Given the description of an element on the screen output the (x, y) to click on. 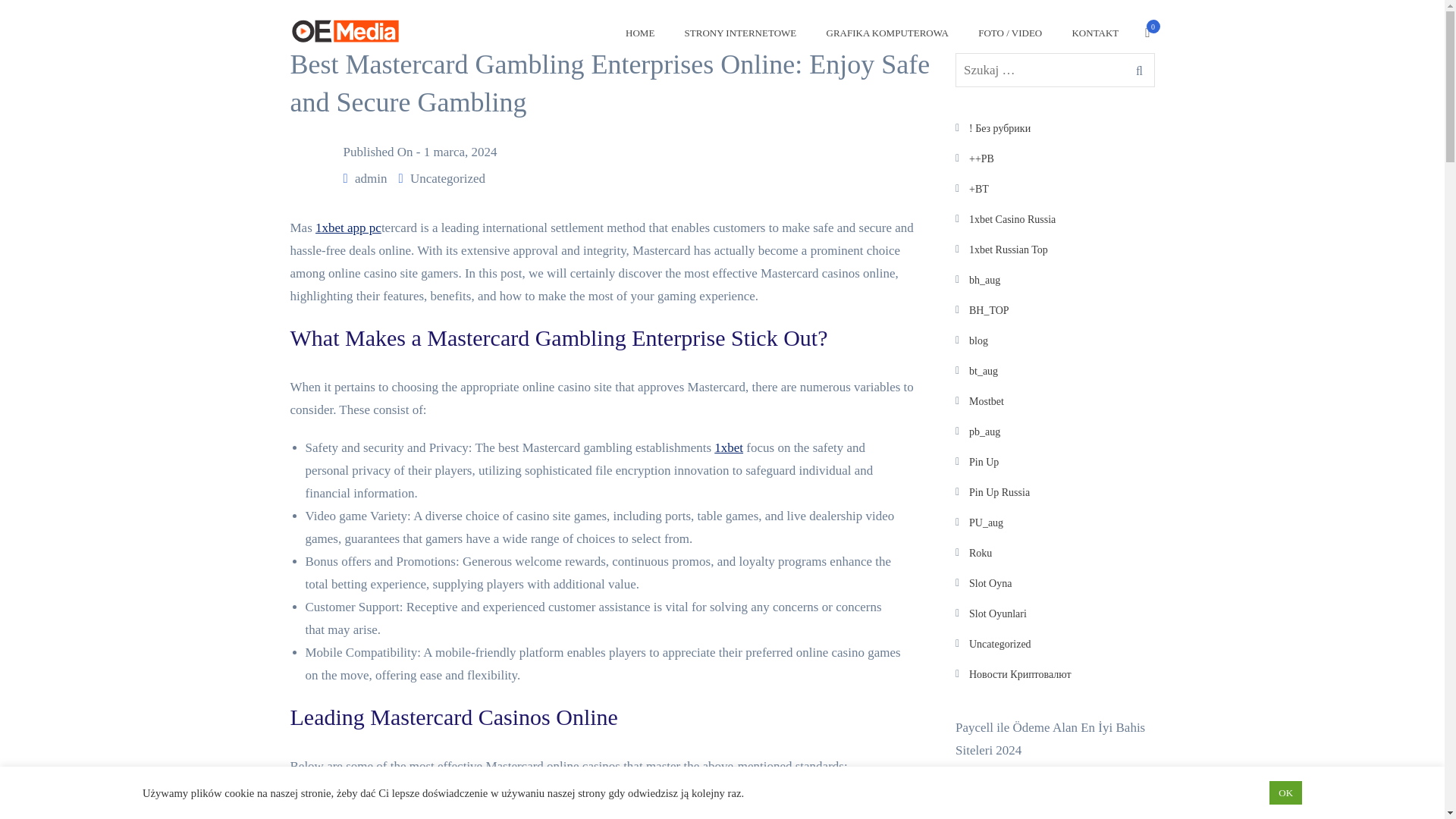
GRAFIKA KOMPUTEROWA (888, 36)
1xbet (728, 447)
blog (978, 340)
1xbet Casino Russia (1012, 219)
STRONY INTERNETOWE (740, 36)
1xbet app pc (348, 227)
1xbet Russian Top (1008, 249)
1 marca, 2024 (460, 151)
Uncategorized (447, 178)
KONTAKT (1094, 36)
